Given the description of an element on the screen output the (x, y) to click on. 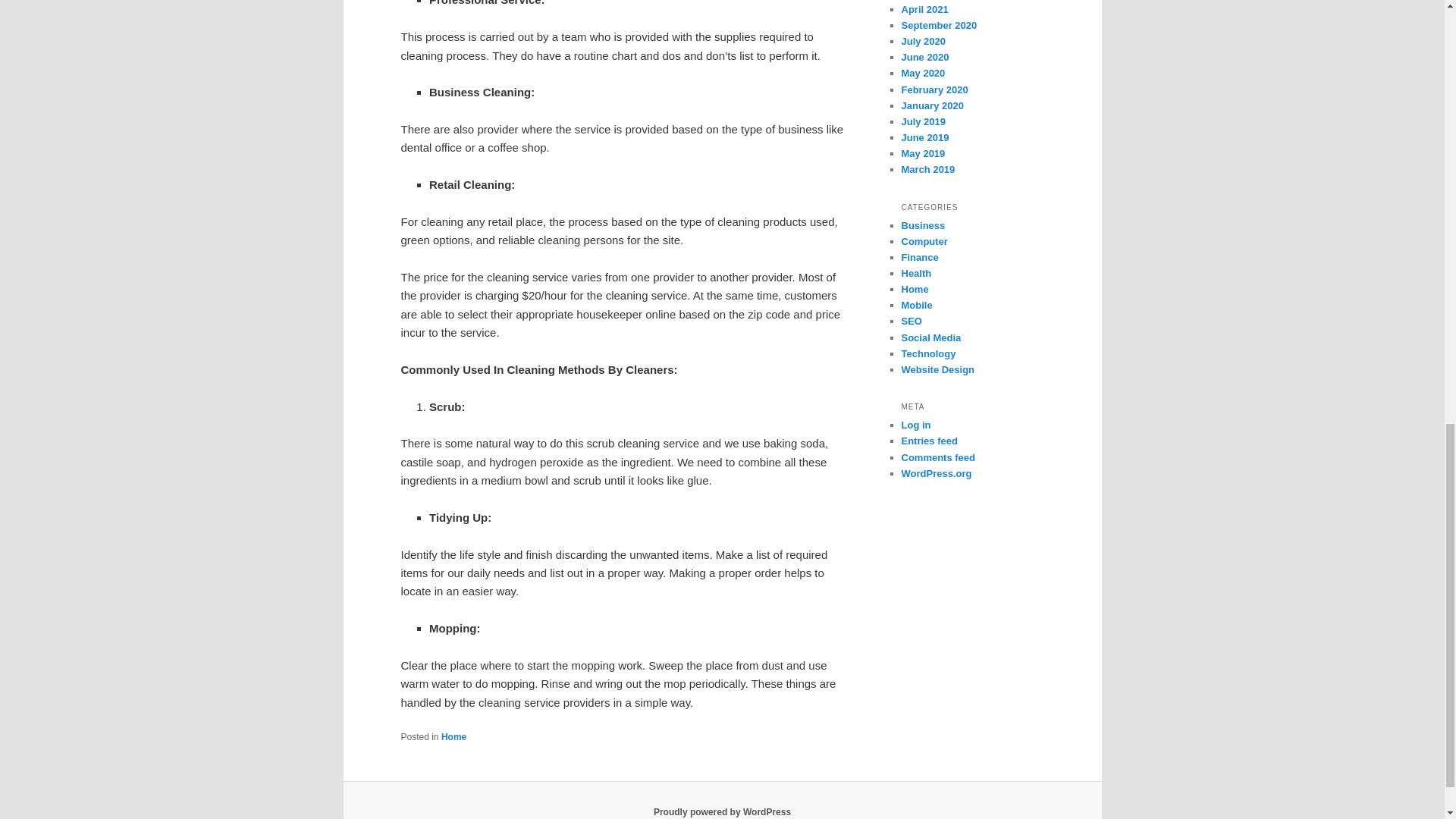
June 2019 (925, 137)
July 2019 (922, 121)
Home (453, 737)
Semantic Personal Publishing Platform (721, 811)
January 2020 (931, 105)
May 2019 (922, 153)
May 2020 (922, 72)
June 2020 (925, 57)
September 2020 (938, 25)
February 2020 (934, 89)
